Given the description of an element on the screen output the (x, y) to click on. 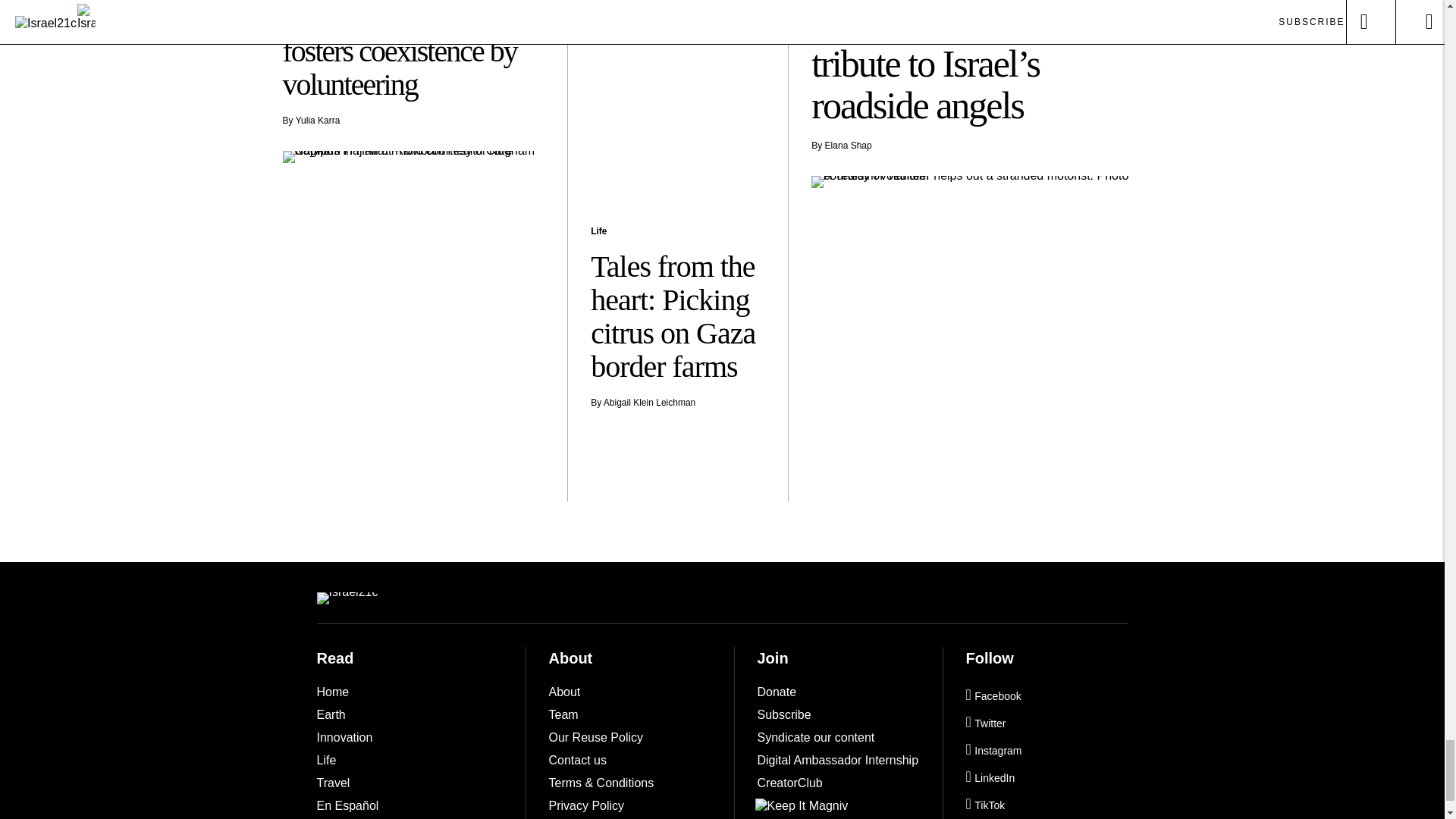
Abigail Klein Leichman (649, 402)
Yulia Karra (317, 120)
Elana Shap (848, 145)
